Given the description of an element on the screen output the (x, y) to click on. 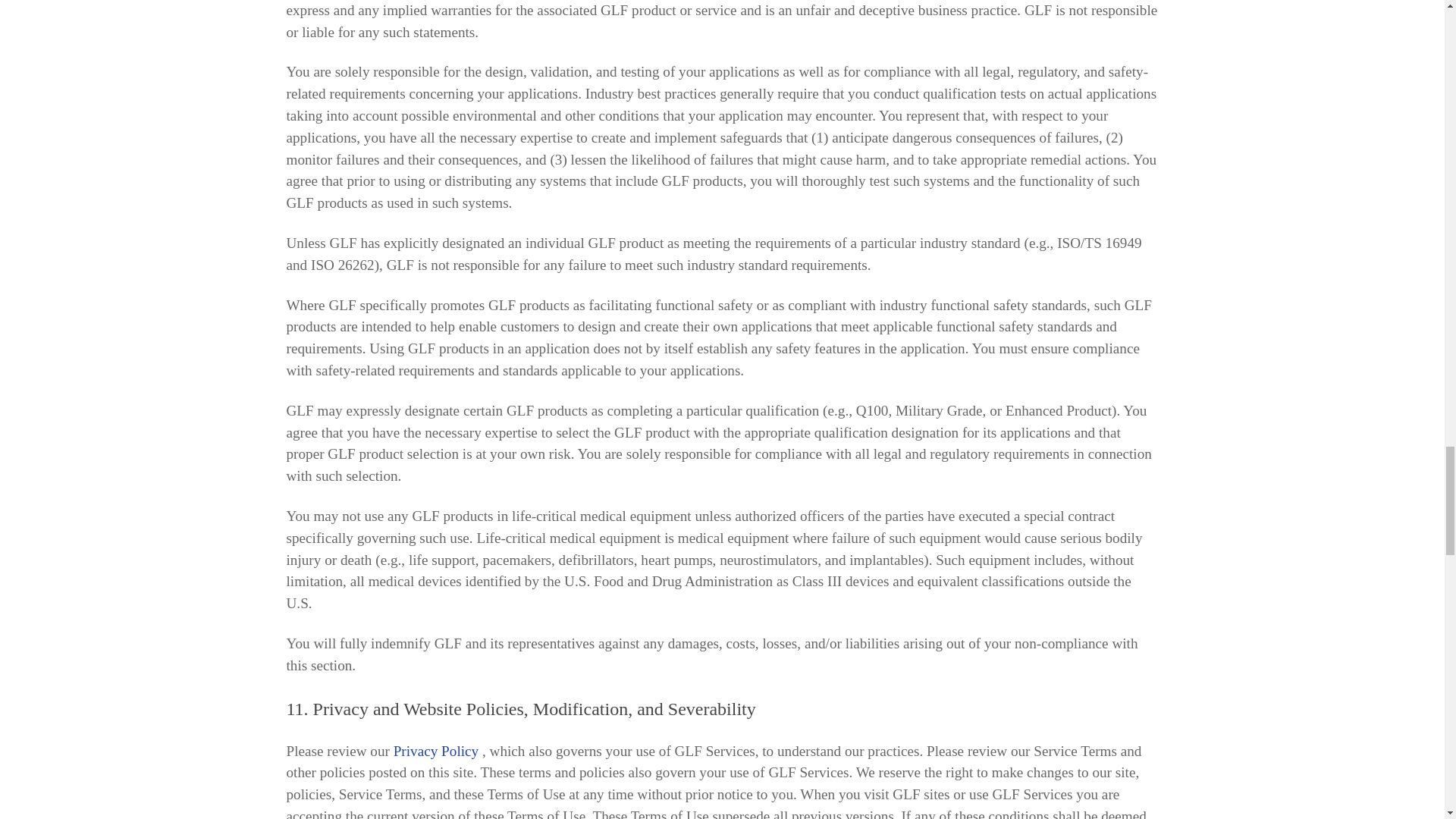
Privacy Policy (436, 751)
